Given the description of an element on the screen output the (x, y) to click on. 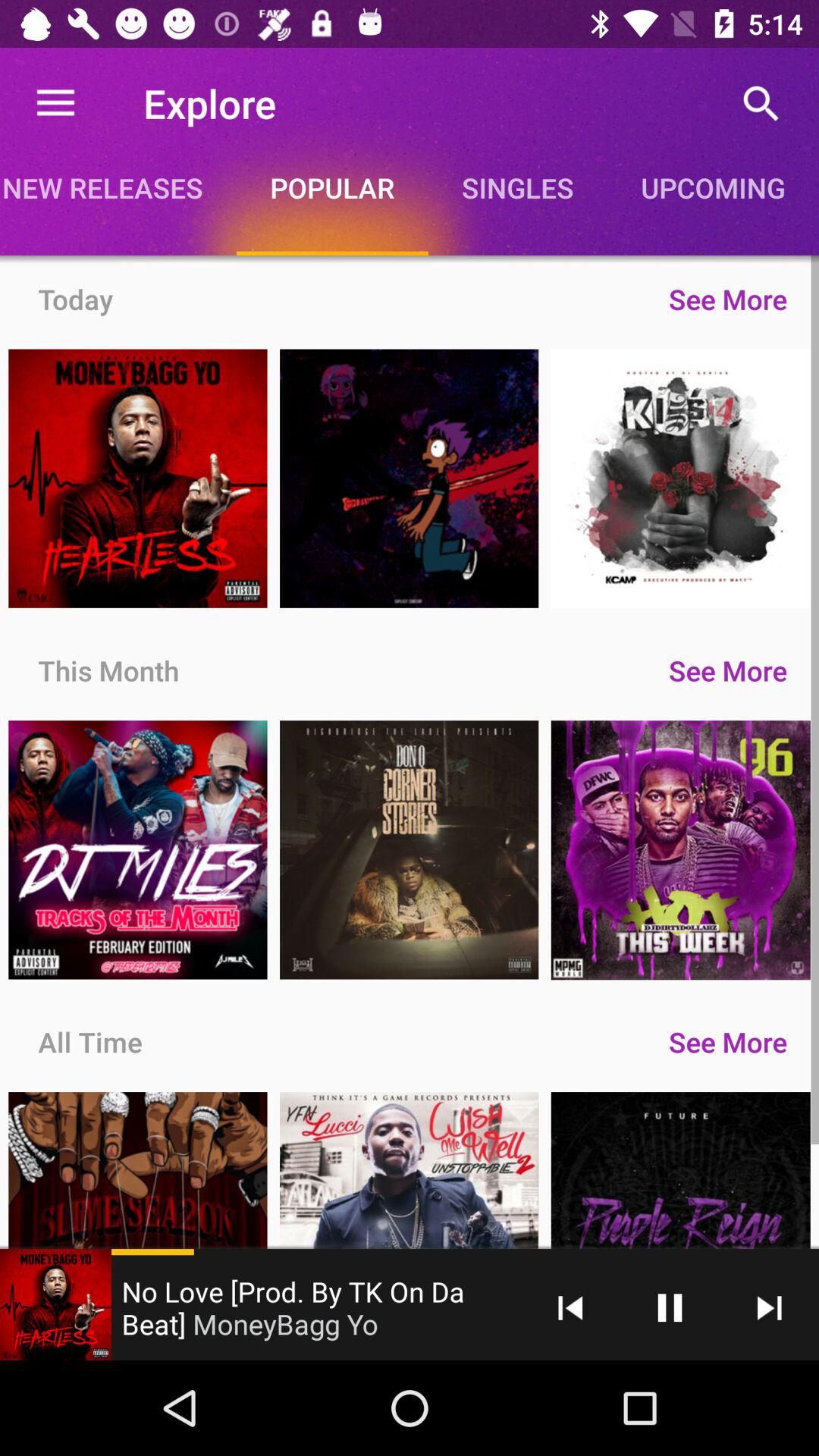
open icon next to new releases (332, 187)
